Given the description of an element on the screen output the (x, y) to click on. 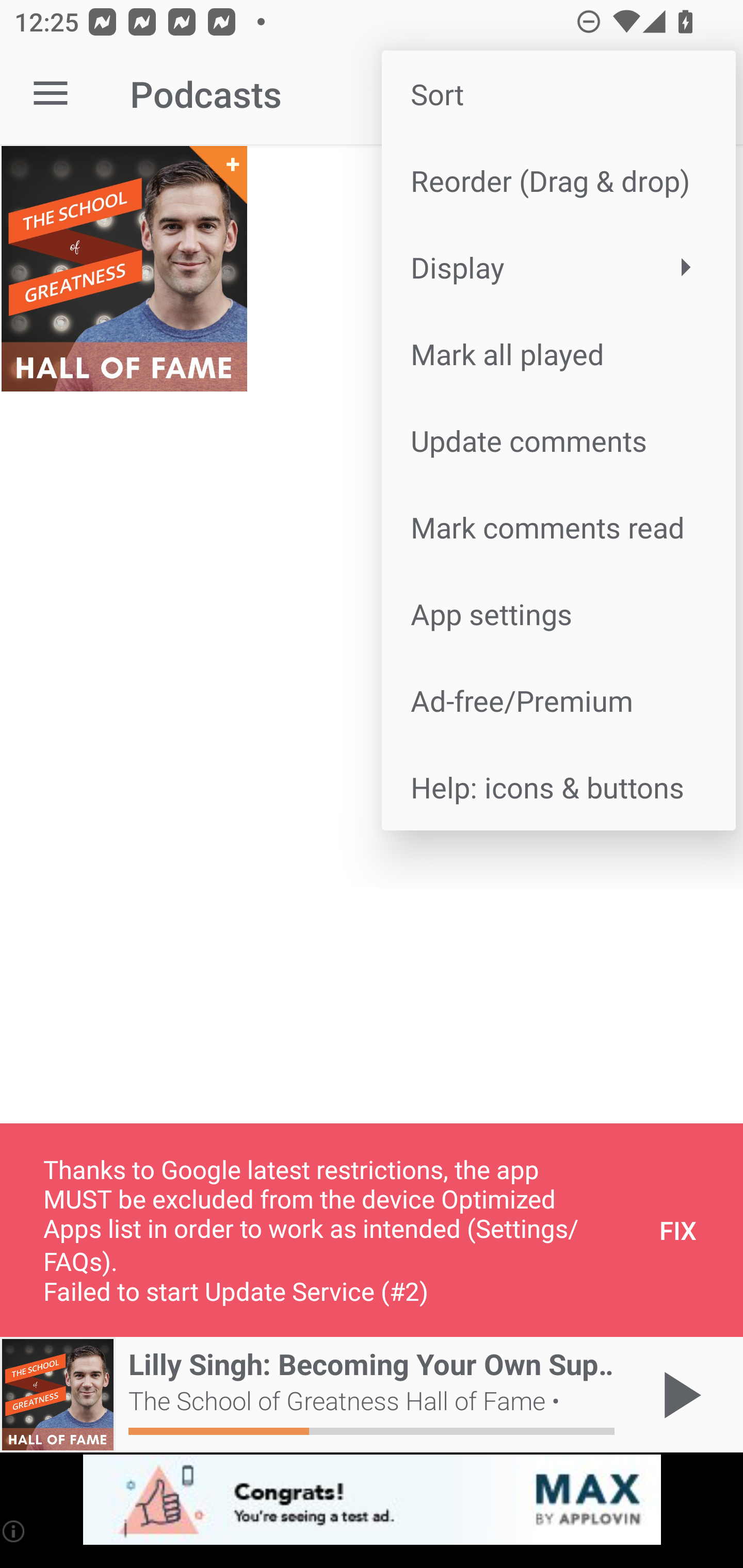
Sort (558, 93)
Reorder (Drag & drop) (558, 180)
Display (558, 267)
Mark all played (558, 353)
Update comments (558, 440)
Mark comments read (558, 527)
App settings (558, 613)
Ad-free/Premium (558, 699)
Help: icons & buttons (558, 787)
